Given the description of an element on the screen output the (x, y) to click on. 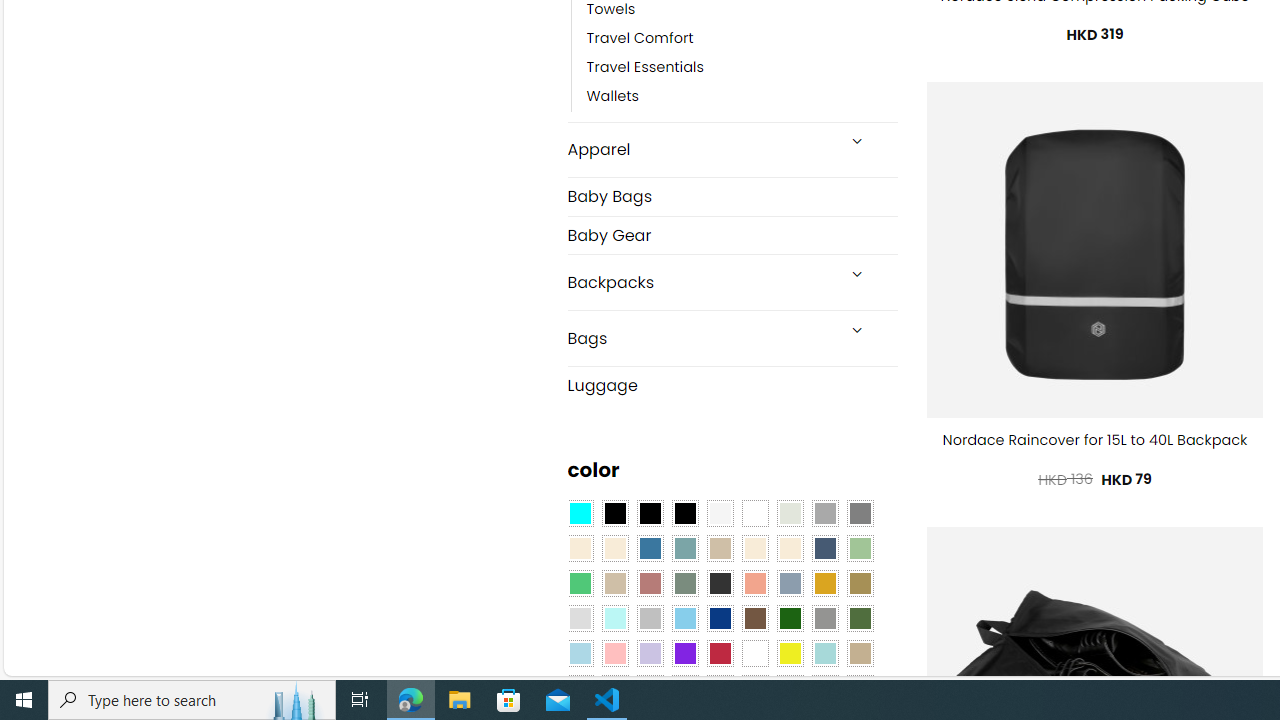
Beige-Brown (614, 548)
Blue Sage (684, 548)
Light Blue (579, 653)
Coral (755, 583)
Rose (650, 583)
Sky Blue (684, 619)
Bags (700, 337)
Aqua Blue (579, 514)
Black-Brown (684, 514)
Apparel (700, 150)
All Black (614, 514)
Wallets (742, 97)
Travel Comfort (639, 38)
